Given the description of an element on the screen output the (x, y) to click on. 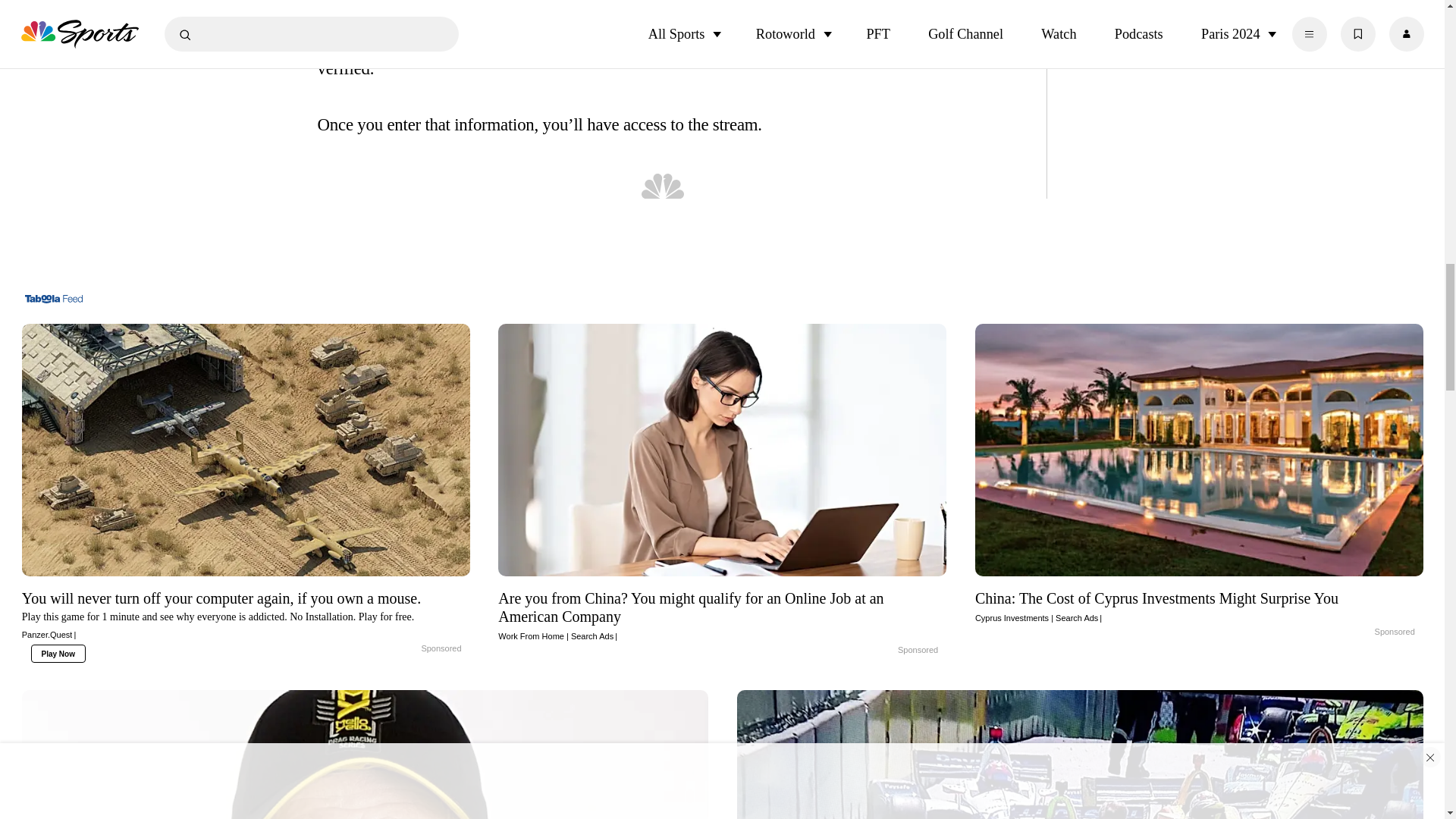
China: The Cost of Cyprus Investments Might Surprise You (1359, 633)
China: The Cost of Cyprus Investments Might Surprise You (1199, 606)
